Given the description of an element on the screen output the (x, y) to click on. 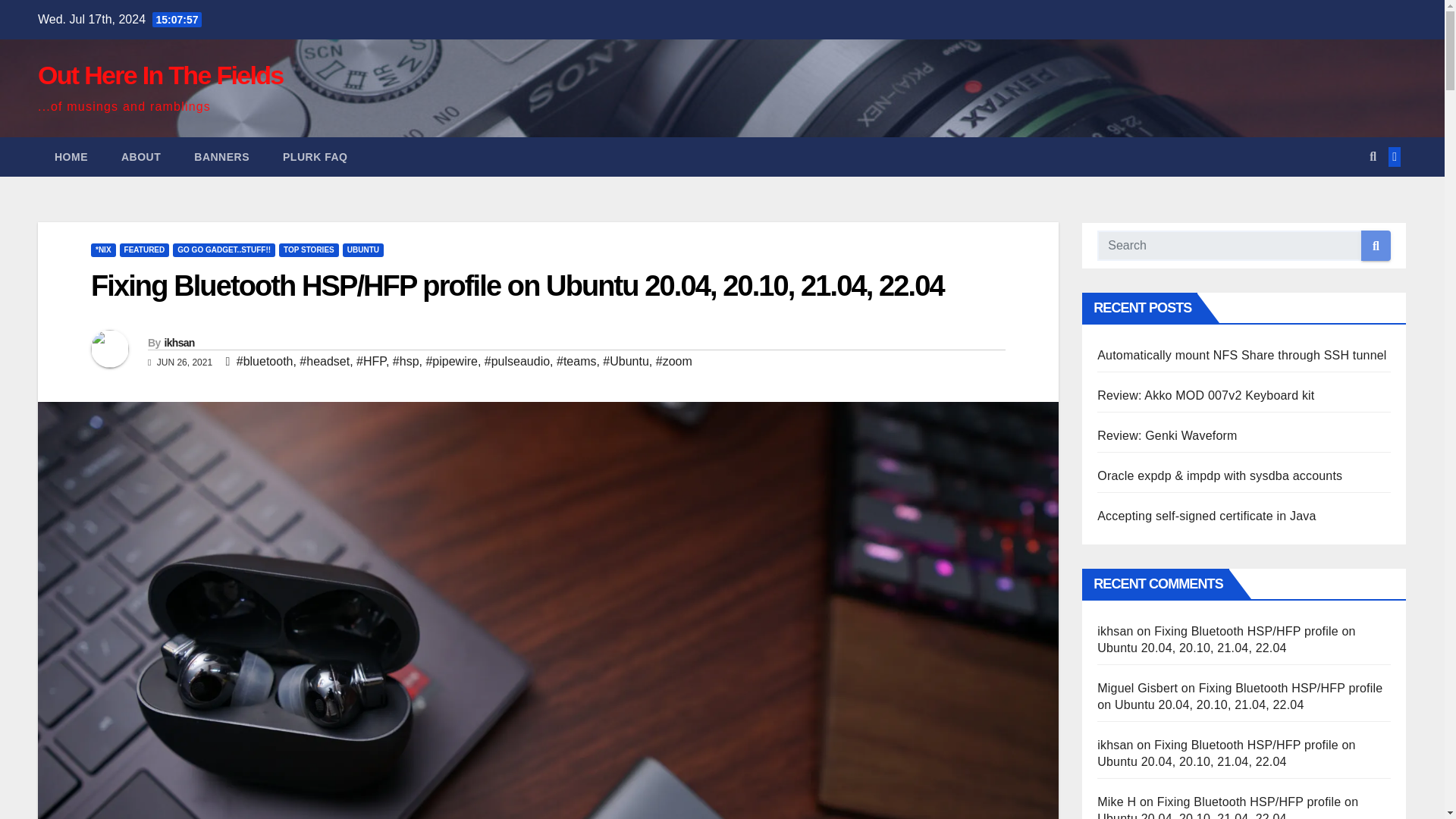
BANNERS (221, 156)
Out Here In The Fields (159, 74)
ikhsan (178, 342)
ABOUT (140, 156)
FEATURED (144, 250)
Home (70, 156)
GO GO GADGET..STUFF!! (224, 250)
PLURK FAQ (315, 156)
HOME (70, 156)
UBUNTU (363, 250)
TOP STORIES (309, 250)
